Given the description of an element on the screen output the (x, y) to click on. 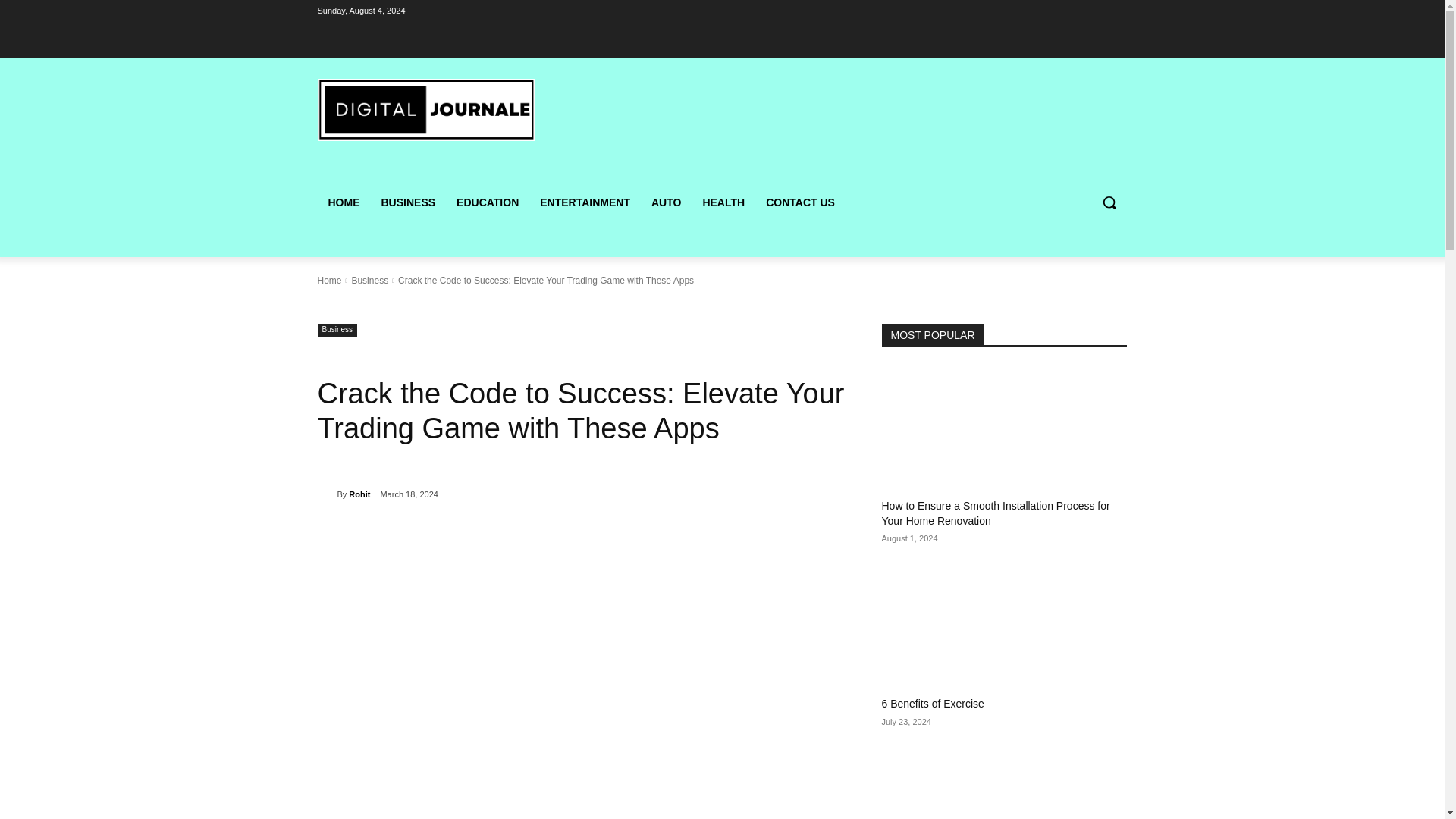
CONTACT US (800, 202)
Home (328, 280)
6 Benefits of Exercise (932, 703)
BUSINESS (407, 202)
Business (336, 329)
Rohit (359, 494)
HEALTH (723, 202)
AUTO (665, 202)
HOME (343, 202)
6 Benefits of Exercise (1003, 625)
Rohit (326, 494)
Business (369, 280)
ENTERTAINMENT (584, 202)
